Given the description of an element on the screen output the (x, y) to click on. 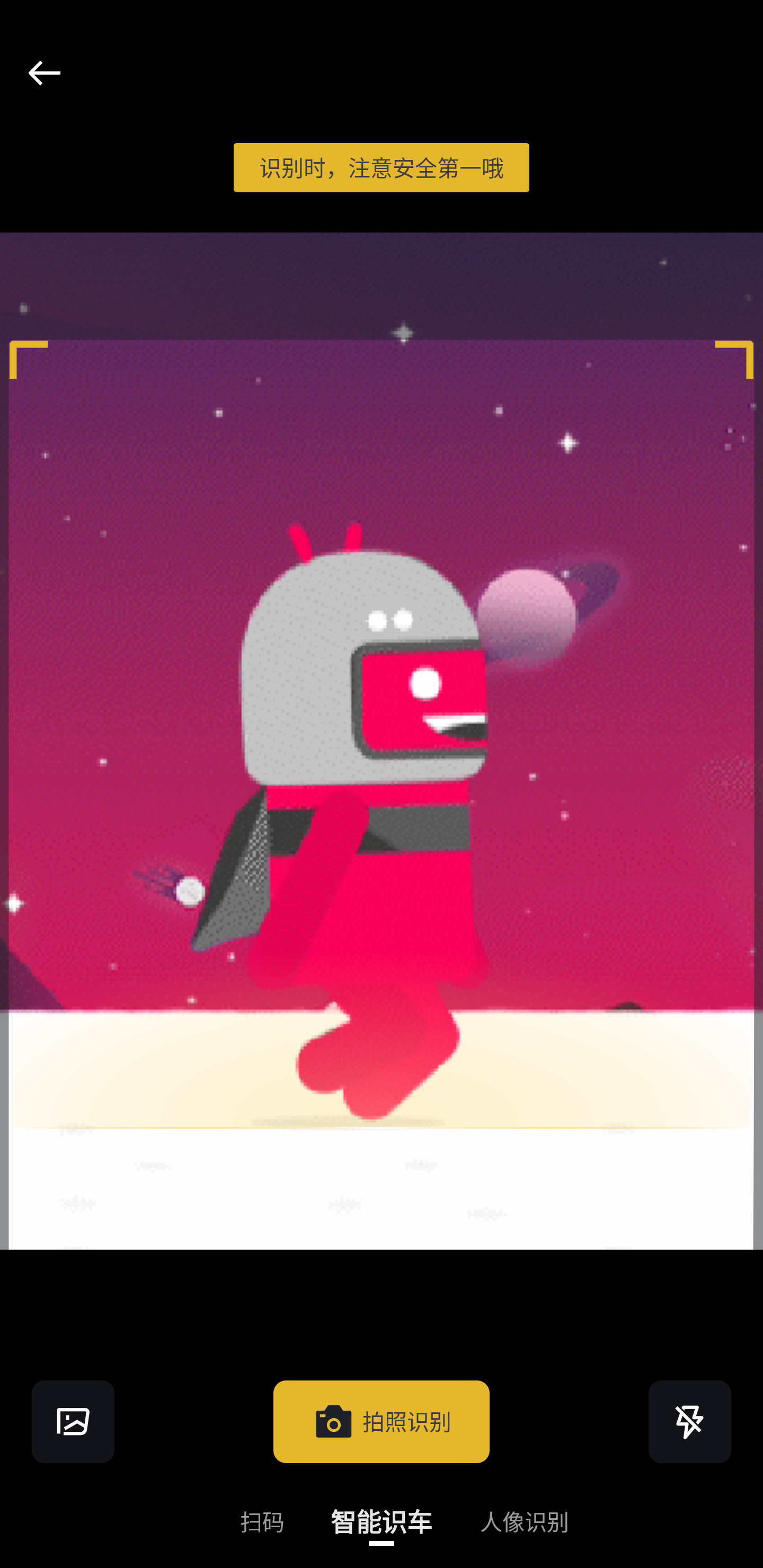
 (44, 72)
 (73, 1420)
拍照识别 (381, 1420)
 (689, 1420)
